Given the description of an element on the screen output the (x, y) to click on. 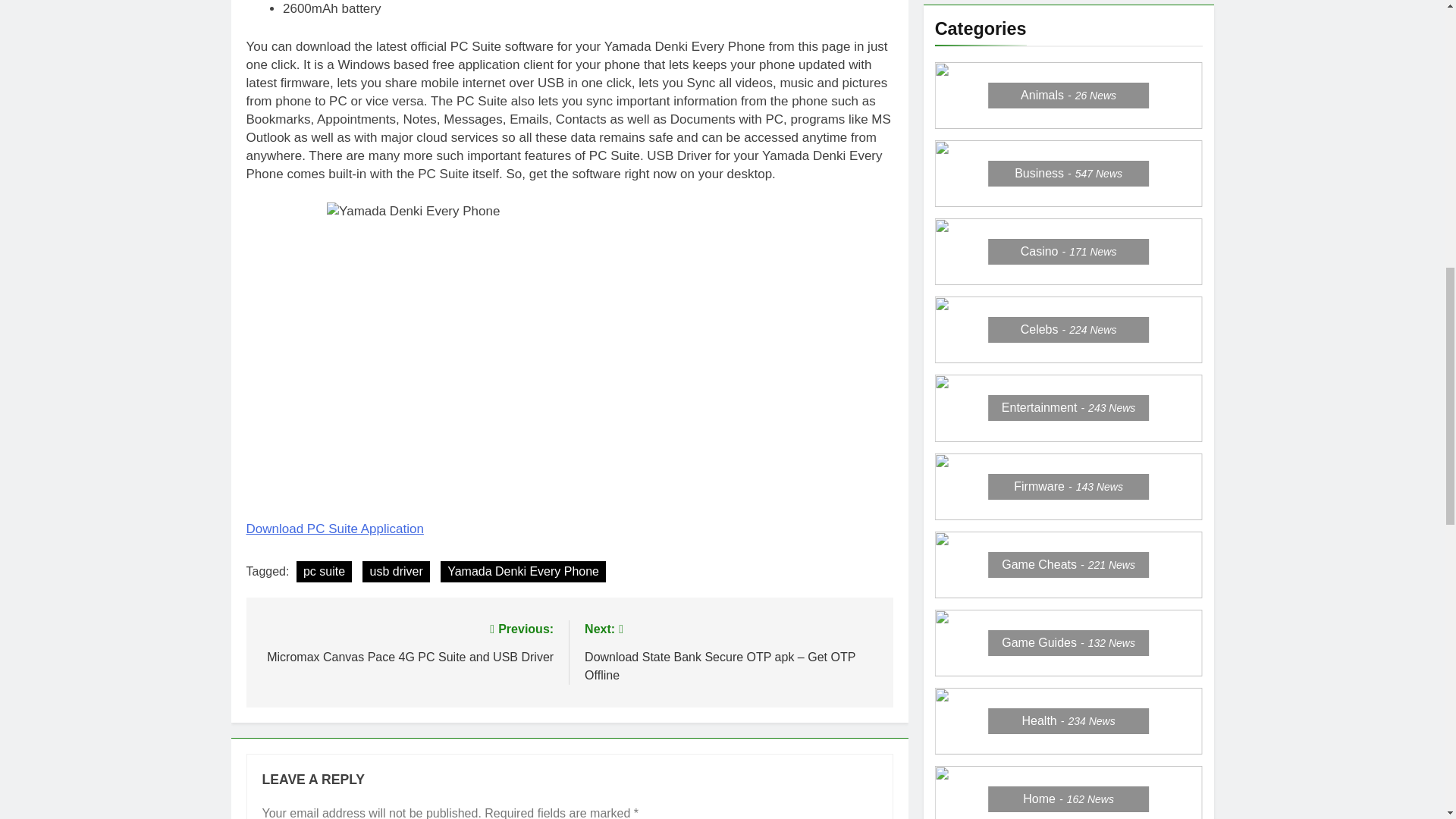
Yamada Denki Every Phone (523, 571)
Download PC Suite Application (406, 641)
usb driver (334, 528)
pc suite (395, 571)
